Given the description of an element on the screen output the (x, y) to click on. 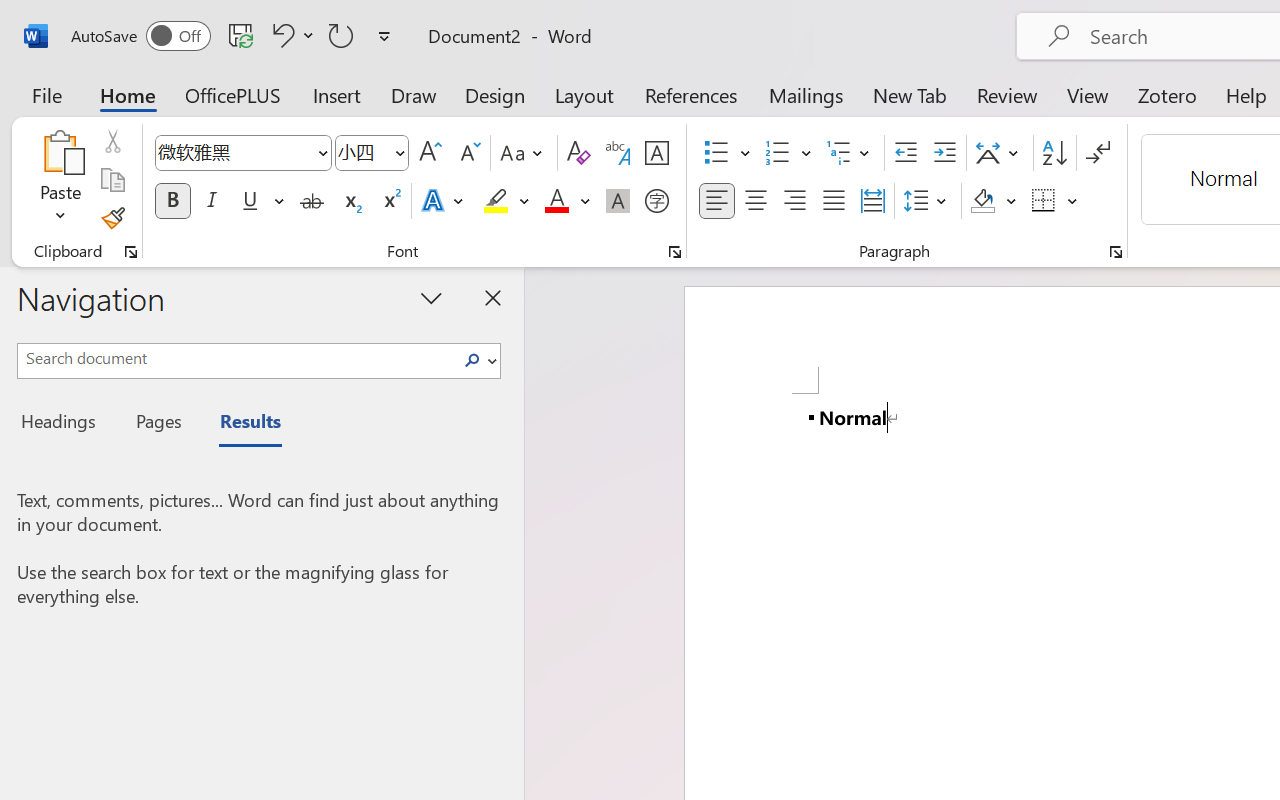
Clear Formatting (578, 153)
Distributed (872, 201)
References (690, 94)
Increase Indent (944, 153)
Cut (112, 141)
Numbering (788, 153)
Font Color Red (556, 201)
Strikethrough (312, 201)
Quick Access Toolbar (233, 36)
Insert (337, 94)
Bold (172, 201)
Repeat Style (341, 35)
Line and Paragraph Spacing (927, 201)
Center (756, 201)
Grow Font (430, 153)
